Given the description of an element on the screen output the (x, y) to click on. 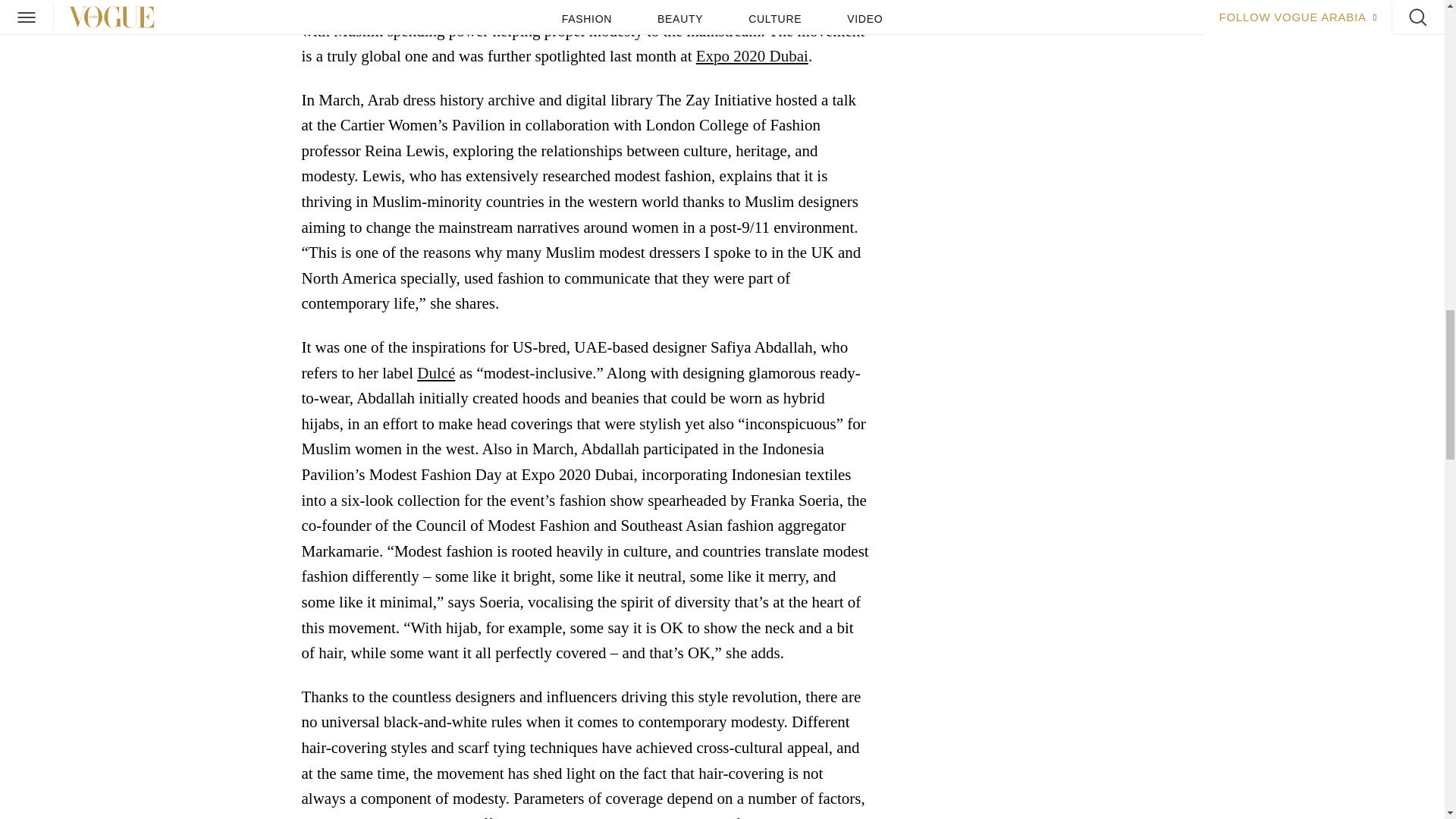
Expo 2020 Dubai (751, 56)
